Given the description of an element on the screen output the (x, y) to click on. 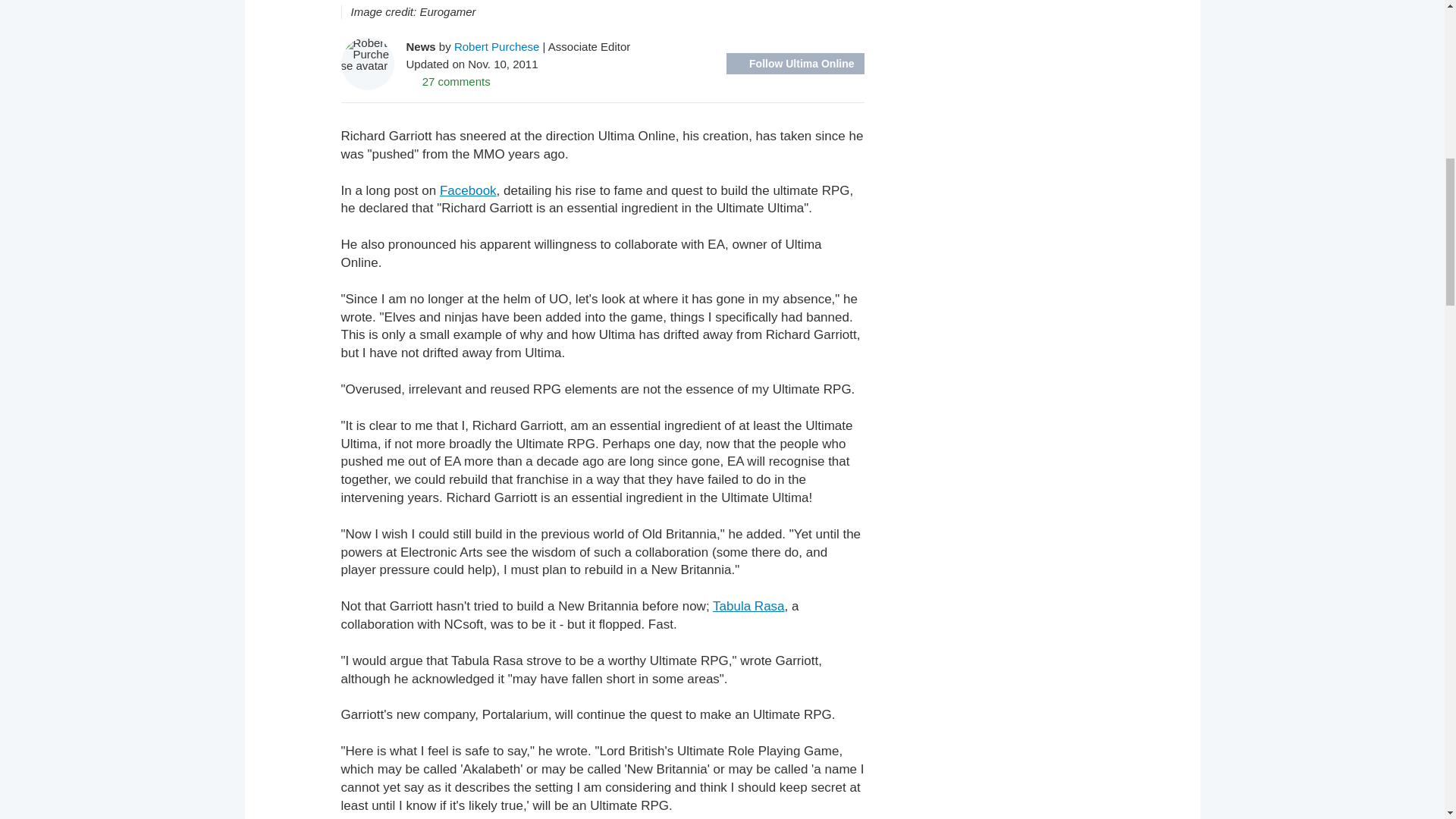
Robert Purchese (497, 45)
Facebook (467, 190)
27 comments (448, 80)
Follow Ultima Online (794, 63)
Tabula Rasa (748, 605)
